Given the description of an element on the screen output the (x, y) to click on. 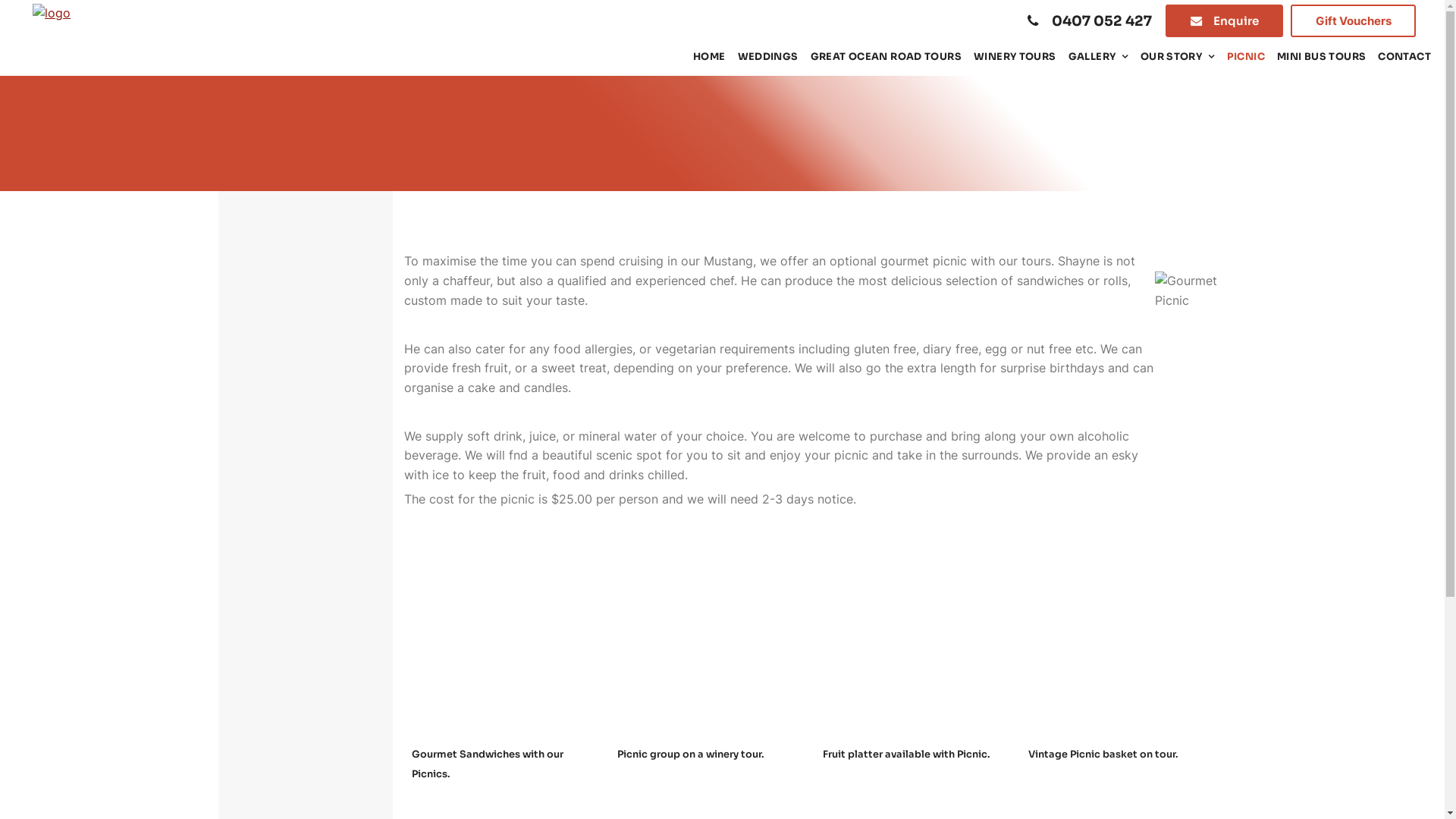
WINERY TOURS Element type: text (1014, 57)
WEDDINGS Element type: text (767, 57)
GREAT OCEAN ROAD TOURS Element type: text (885, 57)
Gift Vouchers Element type: text (1352, 20)
HOME Element type: text (709, 57)
OUR STORY Element type: text (1177, 57)
CONTACT Element type: text (1404, 57)
GALLERY Element type: text (1098, 57)
MINI BUS TOURS Element type: text (1320, 57)
Enquire Element type: text (1224, 20)
PICNIC Element type: text (1245, 57)
